Given the description of an element on the screen output the (x, y) to click on. 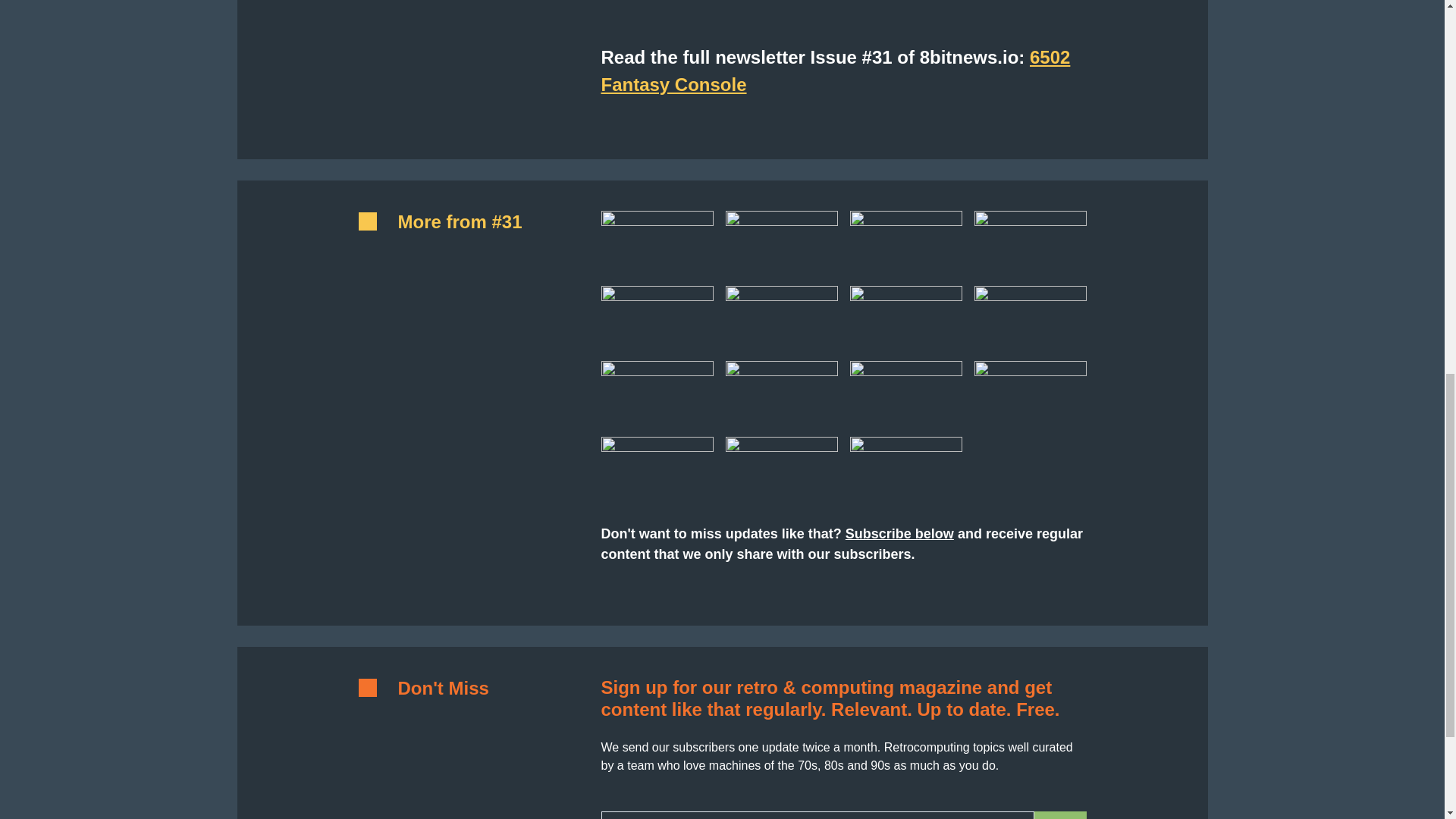
Try It (1059, 815)
6502 Fantasy Console (834, 70)
Subscribe below (899, 533)
